Given the description of an element on the screen output the (x, y) to click on. 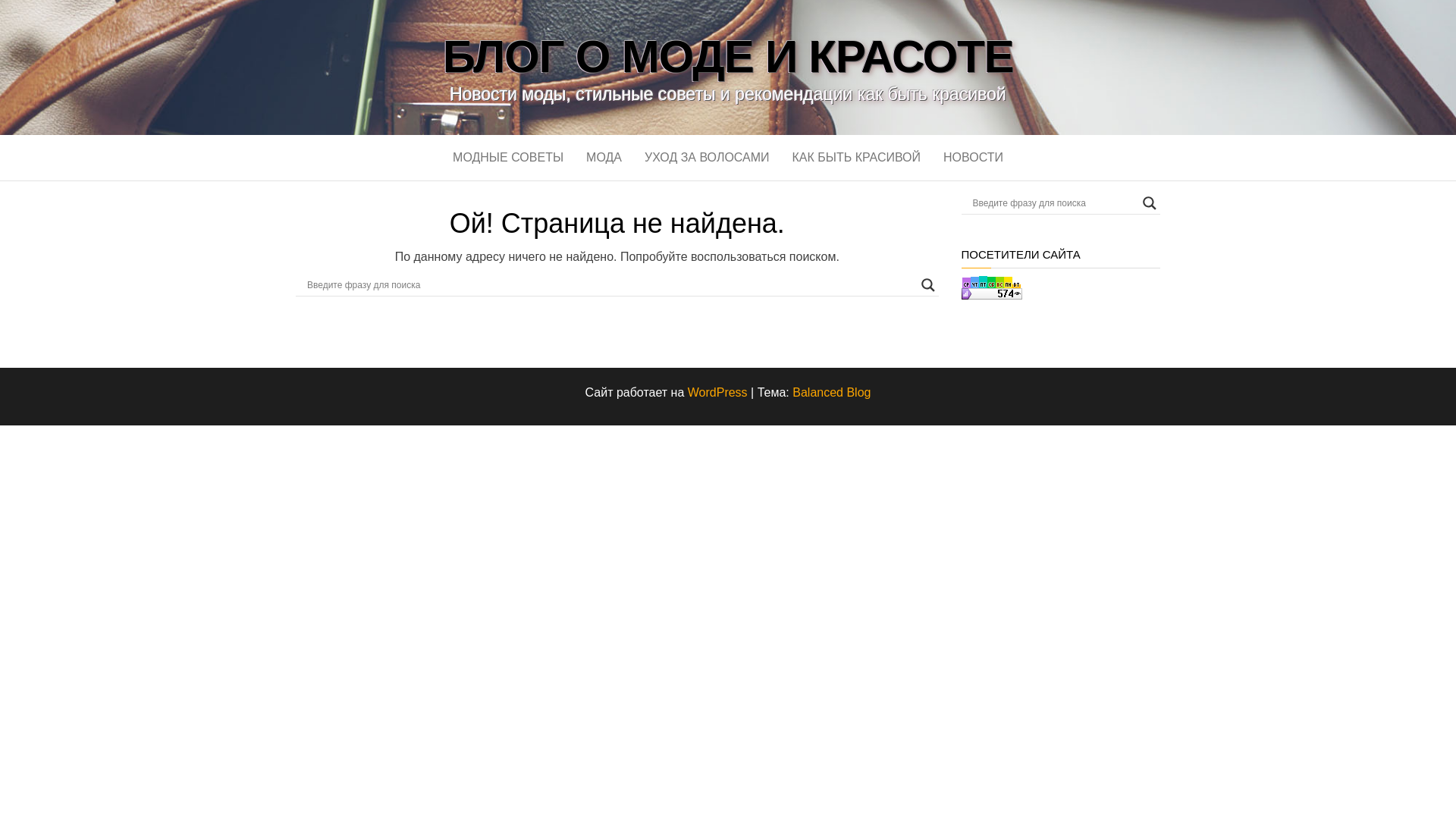
WordPress (717, 391)
LiveInternet (1036, 287)
Balanced Blog (831, 391)
